Given the description of an element on the screen output the (x, y) to click on. 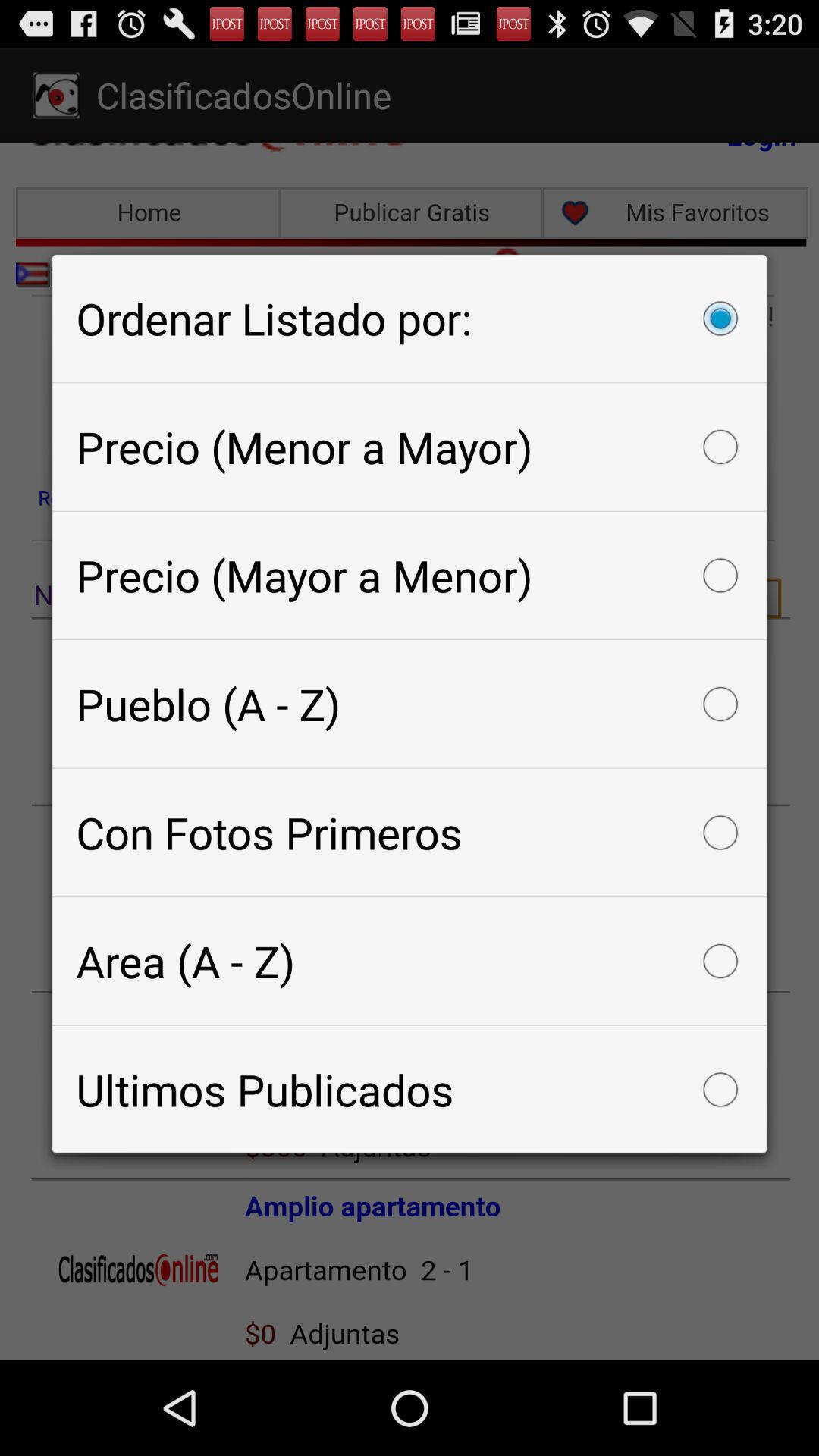
flip until ultimos publicados checkbox (409, 1089)
